Given the description of an element on the screen output the (x, y) to click on. 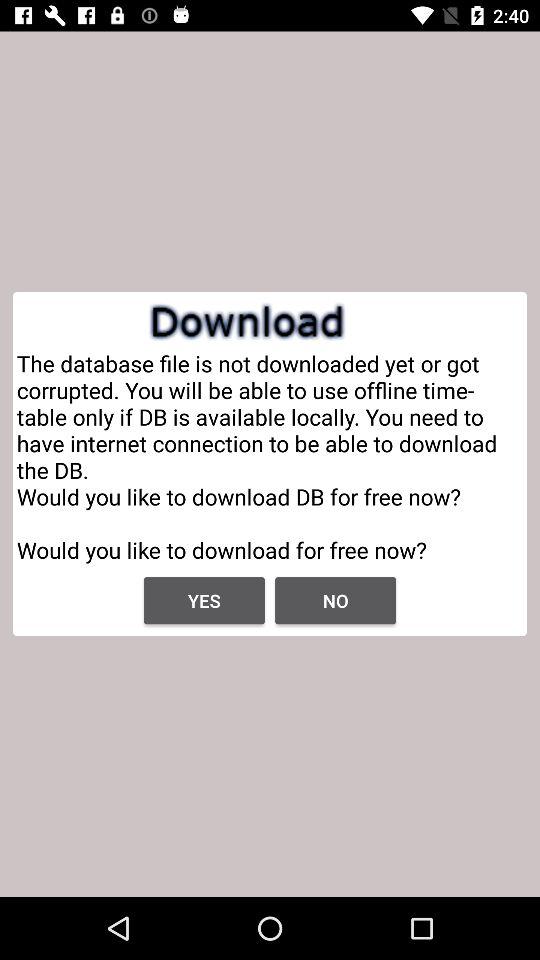
scroll to the yes (204, 600)
